Given the description of an element on the screen output the (x, y) to click on. 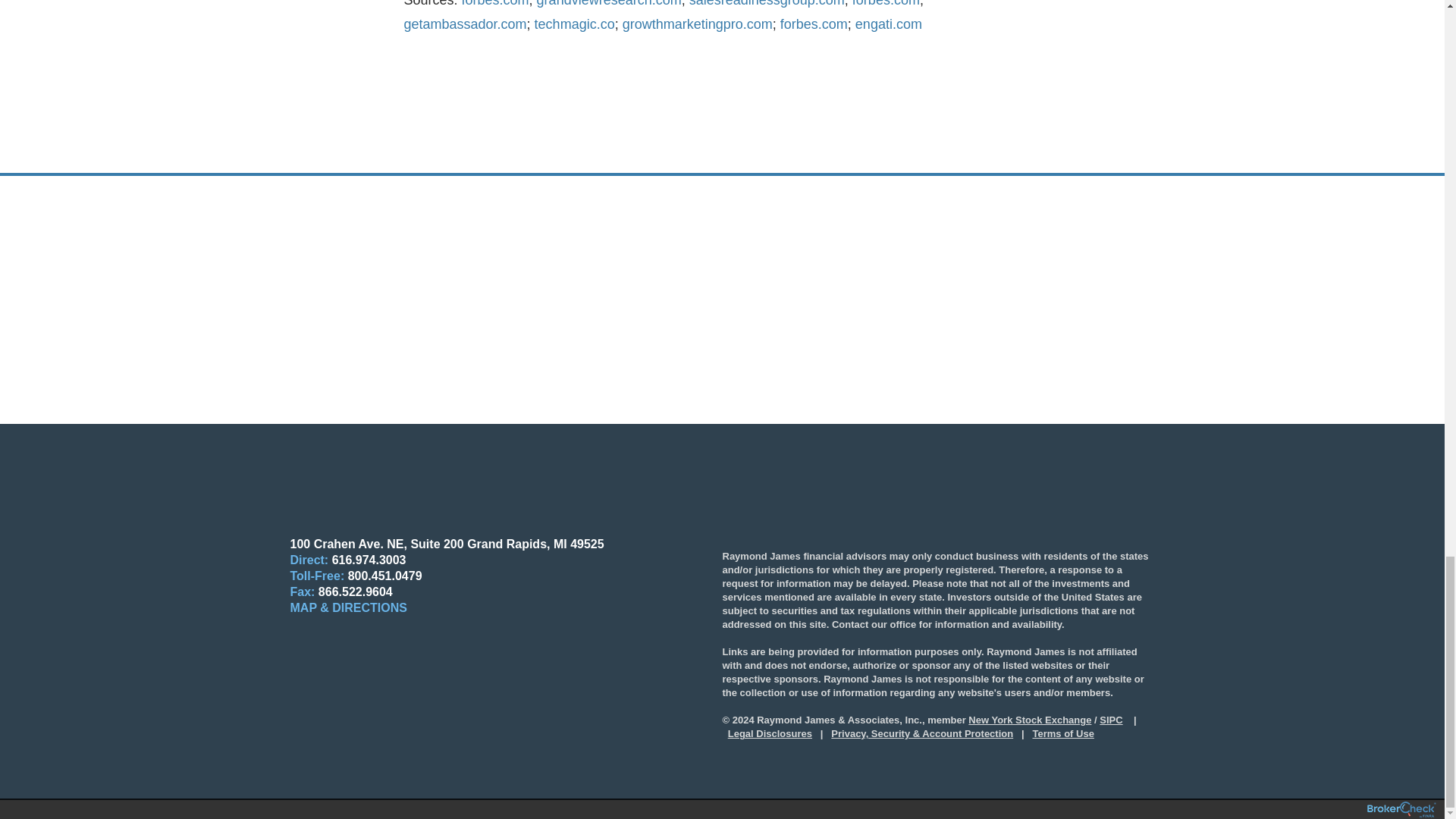
SIPC (1110, 719)
New York Stock Exchange (1029, 719)
Legal Disclosures (770, 733)
Terms of Use (1063, 733)
Privacy, Security and Account Protection (922, 733)
